Given the description of an element on the screen output the (x, y) to click on. 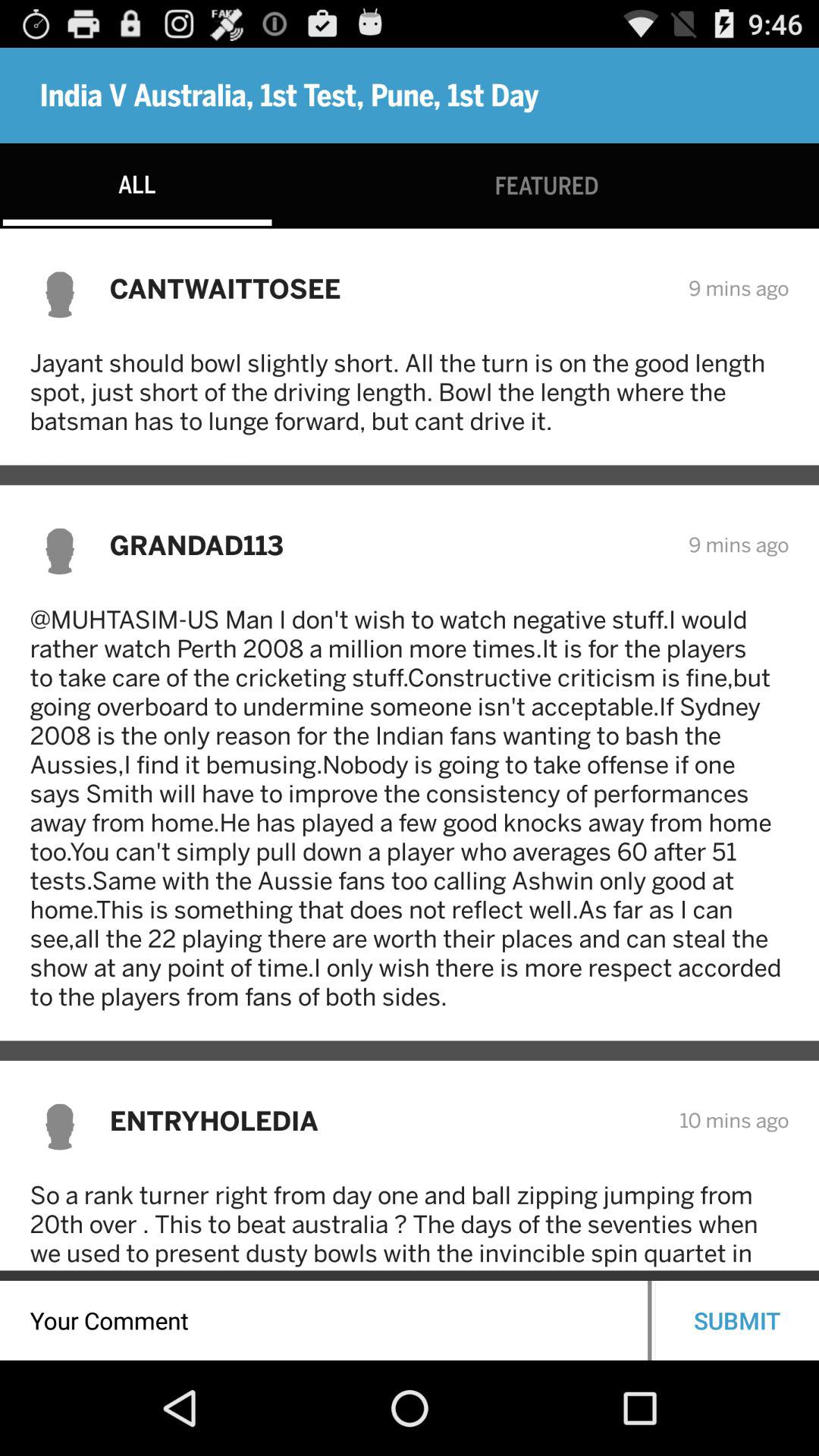
select grandad113 icon (388, 544)
